Given the description of an element on the screen output the (x, y) to click on. 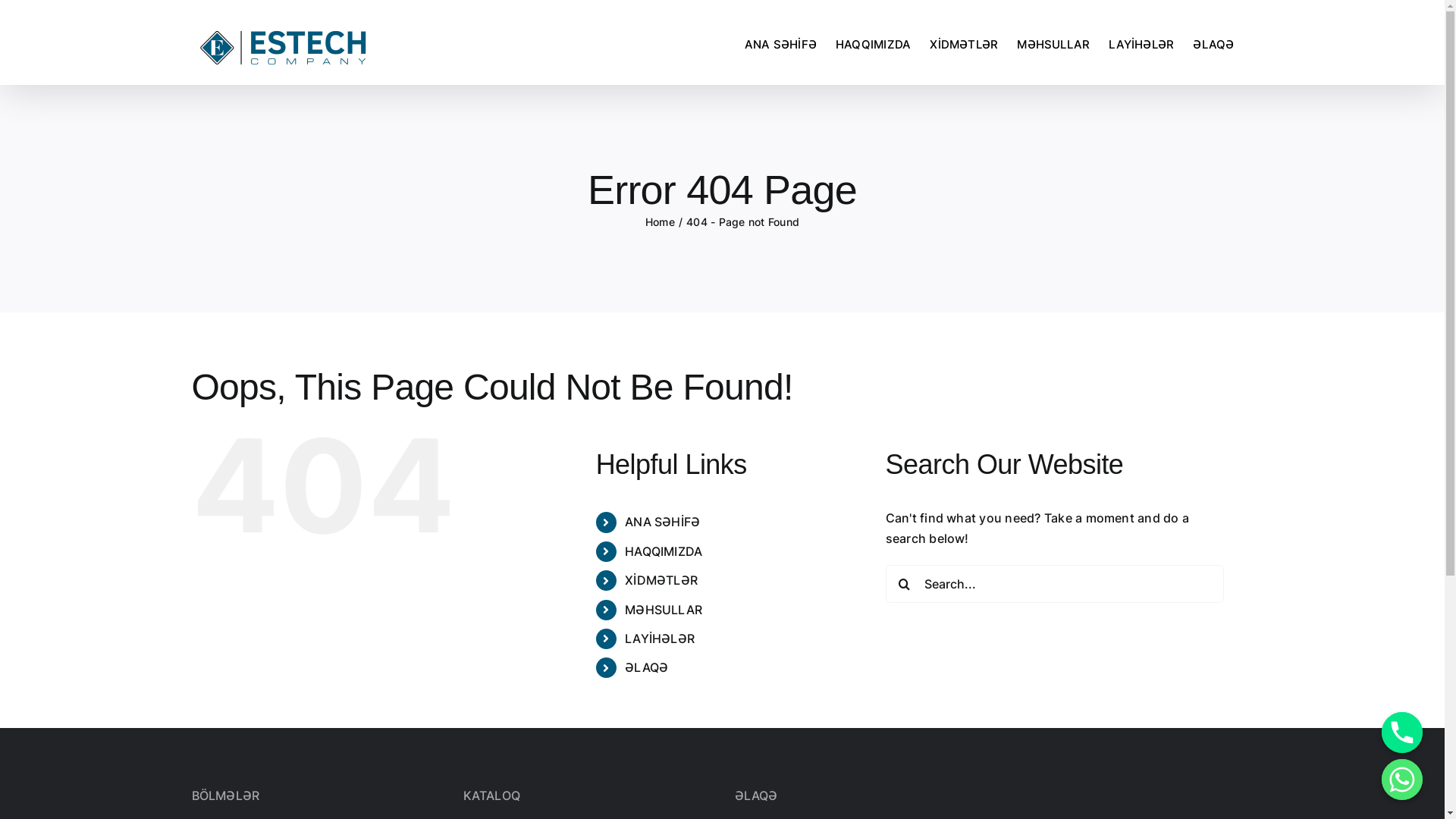
HAQQIMIZDA Element type: text (663, 550)
Home Element type: text (659, 221)
HAQQIMIZDA Element type: text (872, 43)
